Given the description of an element on the screen output the (x, y) to click on. 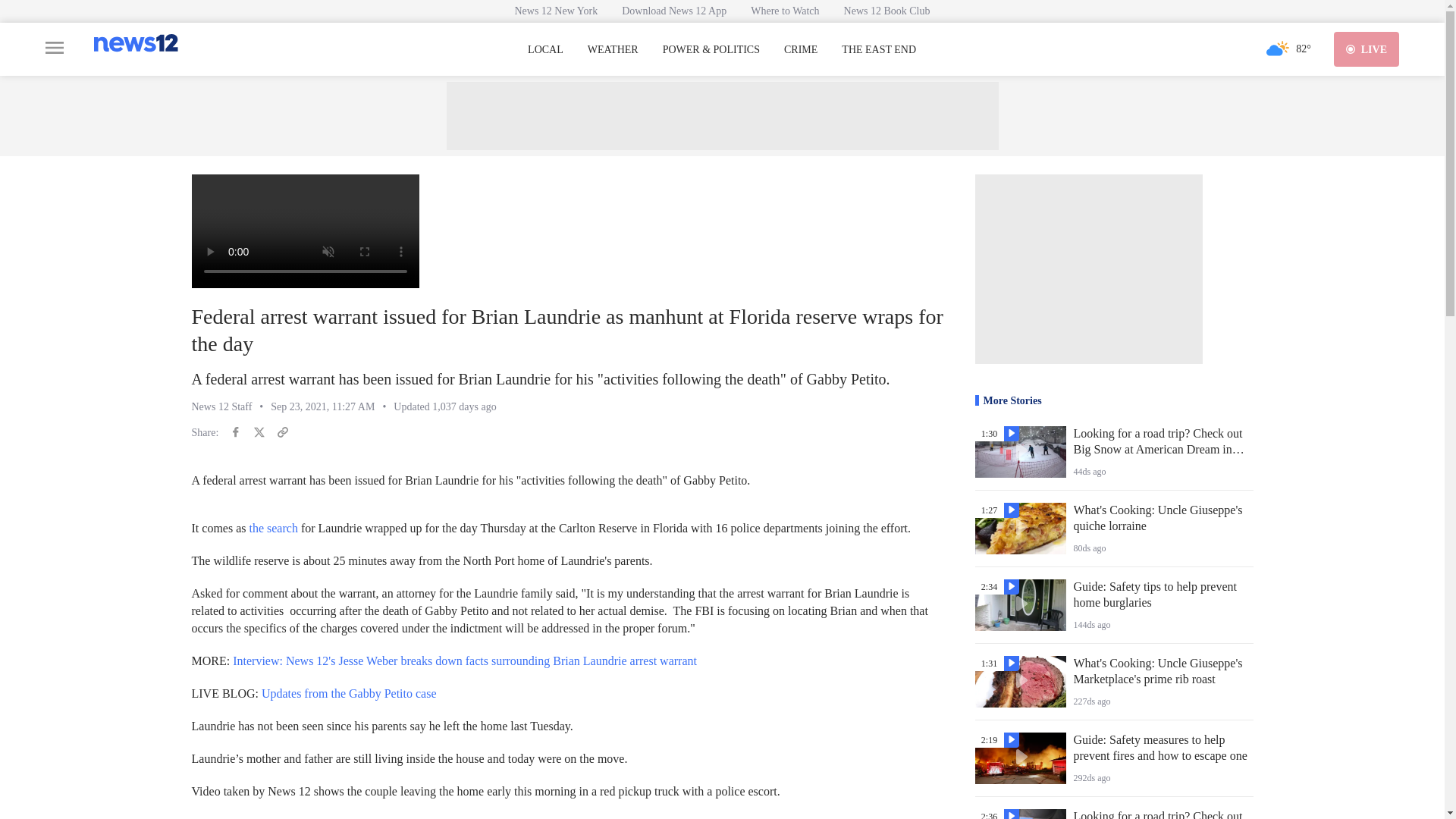
CRIME (800, 49)
Partly Cloudy (1277, 48)
WEATHER (613, 49)
News 12 Book Club (886, 11)
News 12 New York (556, 11)
Where to Watch (784, 11)
LIVE (1366, 48)
LOCAL (545, 49)
Download News 12 App (673, 11)
THE EAST END (878, 49)
